Given the description of an element on the screen output the (x, y) to click on. 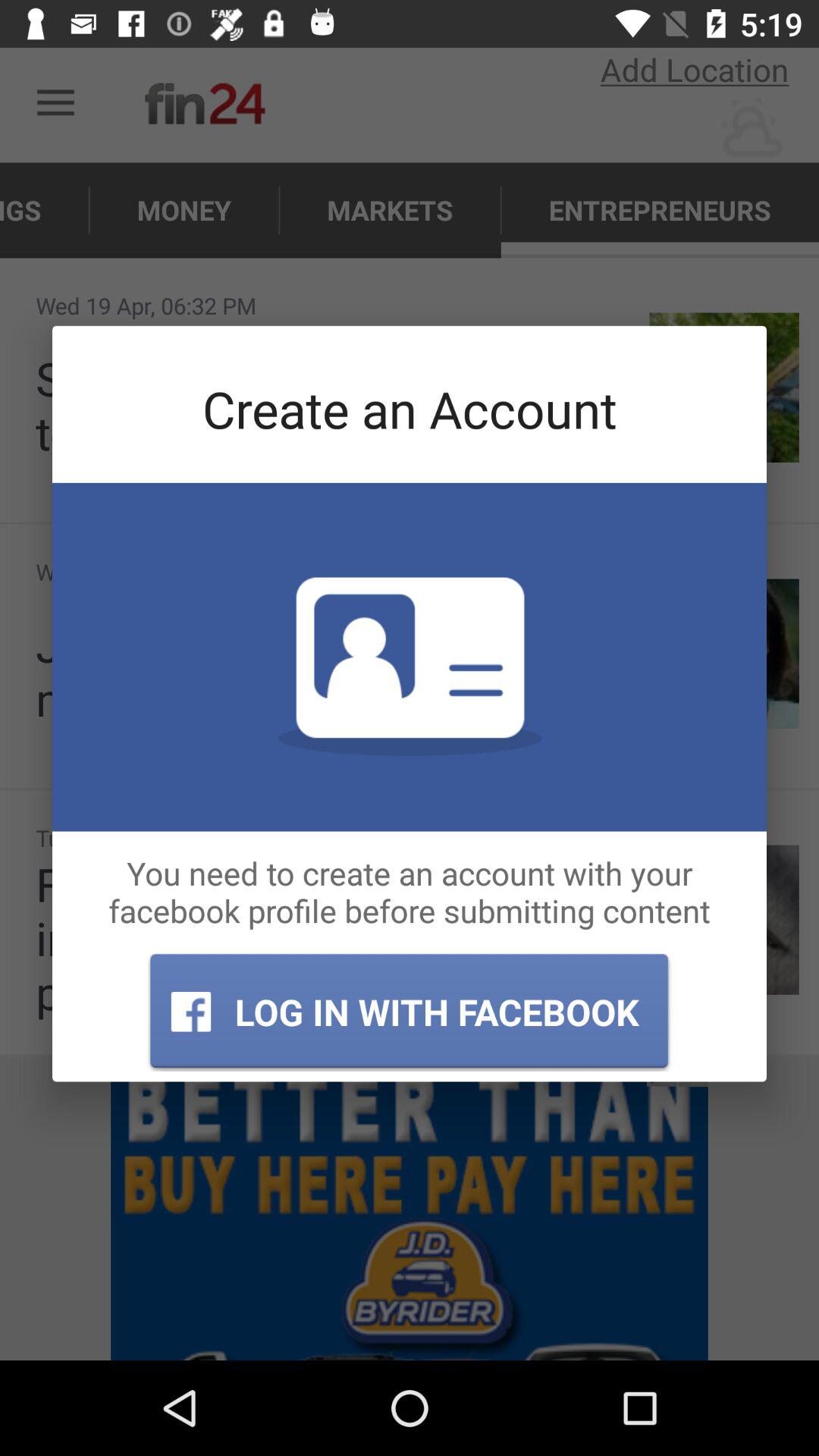
select icon below the you need to icon (409, 1011)
